Given the description of an element on the screen output the (x, y) to click on. 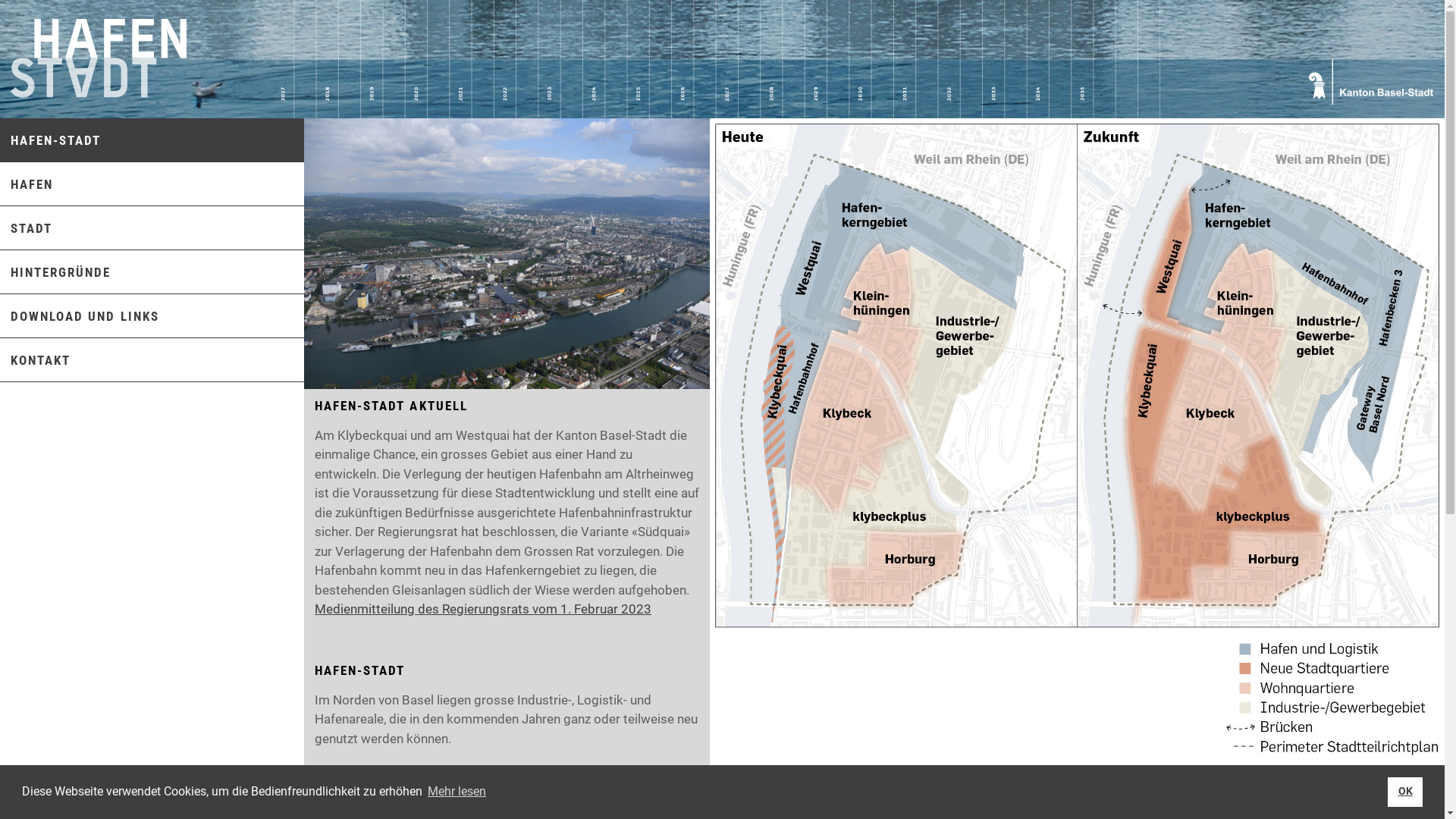
KONTAKT Element type: text (35, 359)
DOWNLOAD UND LINKS Element type: text (79, 315)
STADT Element type: text (26, 227)
Mehr lesen Element type: text (456, 791)
HAFEN Element type: text (26, 183)
Medienmitteilung des Regierungsrats vom 1. Februar 2023 Element type: text (482, 608)
HAFEN-STADT Element type: text (50, 139)
OK Element type: text (1404, 791)
